Given the description of an element on the screen output the (x, y) to click on. 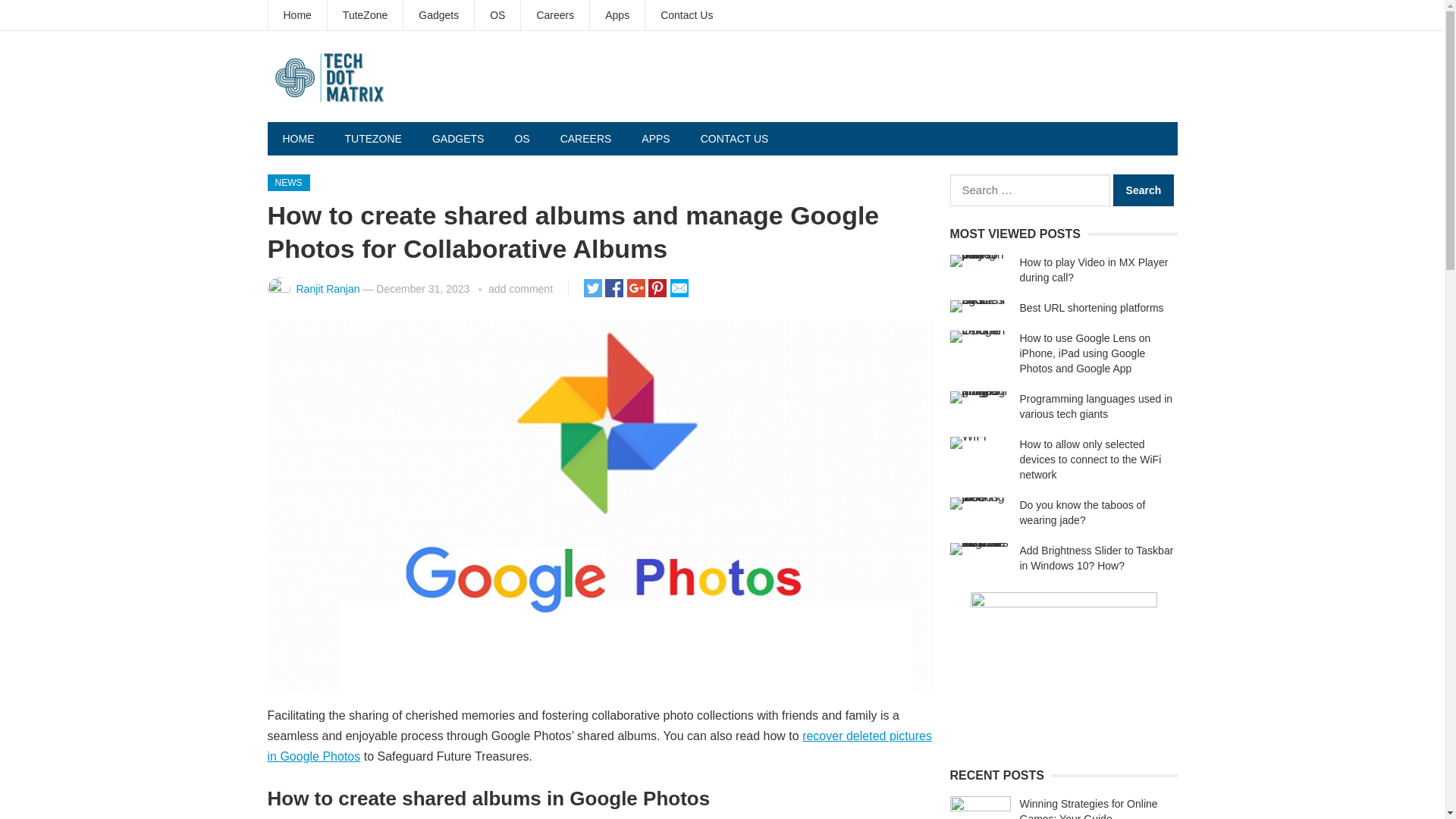
TUTEZONE (372, 138)
HOME (297, 138)
CONTACT US (734, 138)
TuteZone (365, 15)
CAREERS (585, 138)
Careers (555, 15)
APPS (655, 138)
Contact Us (686, 15)
GADGETS (457, 138)
Apps (617, 15)
